Given the description of an element on the screen output the (x, y) to click on. 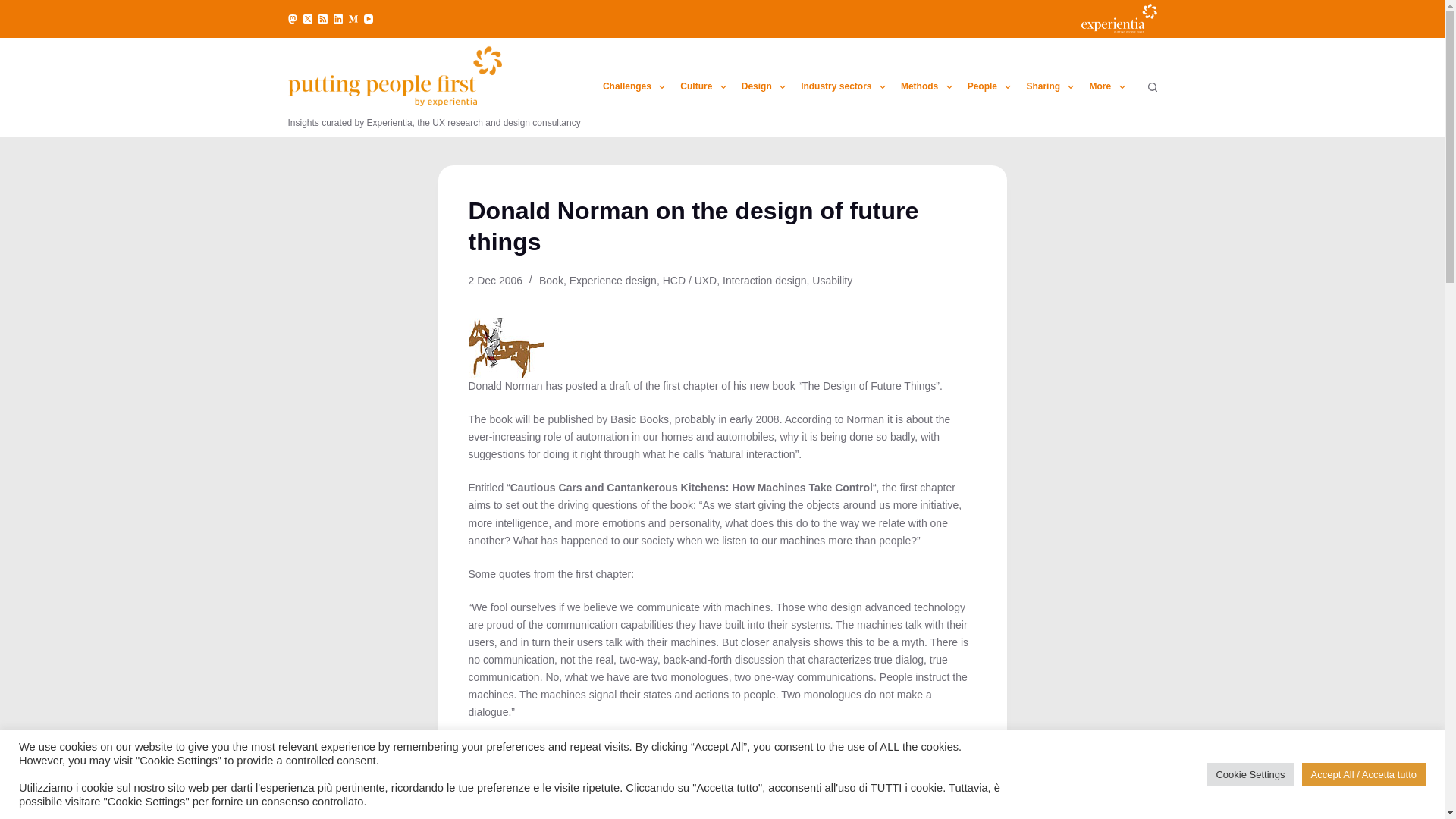
Skip to content (15, 7)
Donald Norman's Horse and Rider (506, 347)
Donald Norman on the design of future things (722, 226)
